Given the description of an element on the screen output the (x, y) to click on. 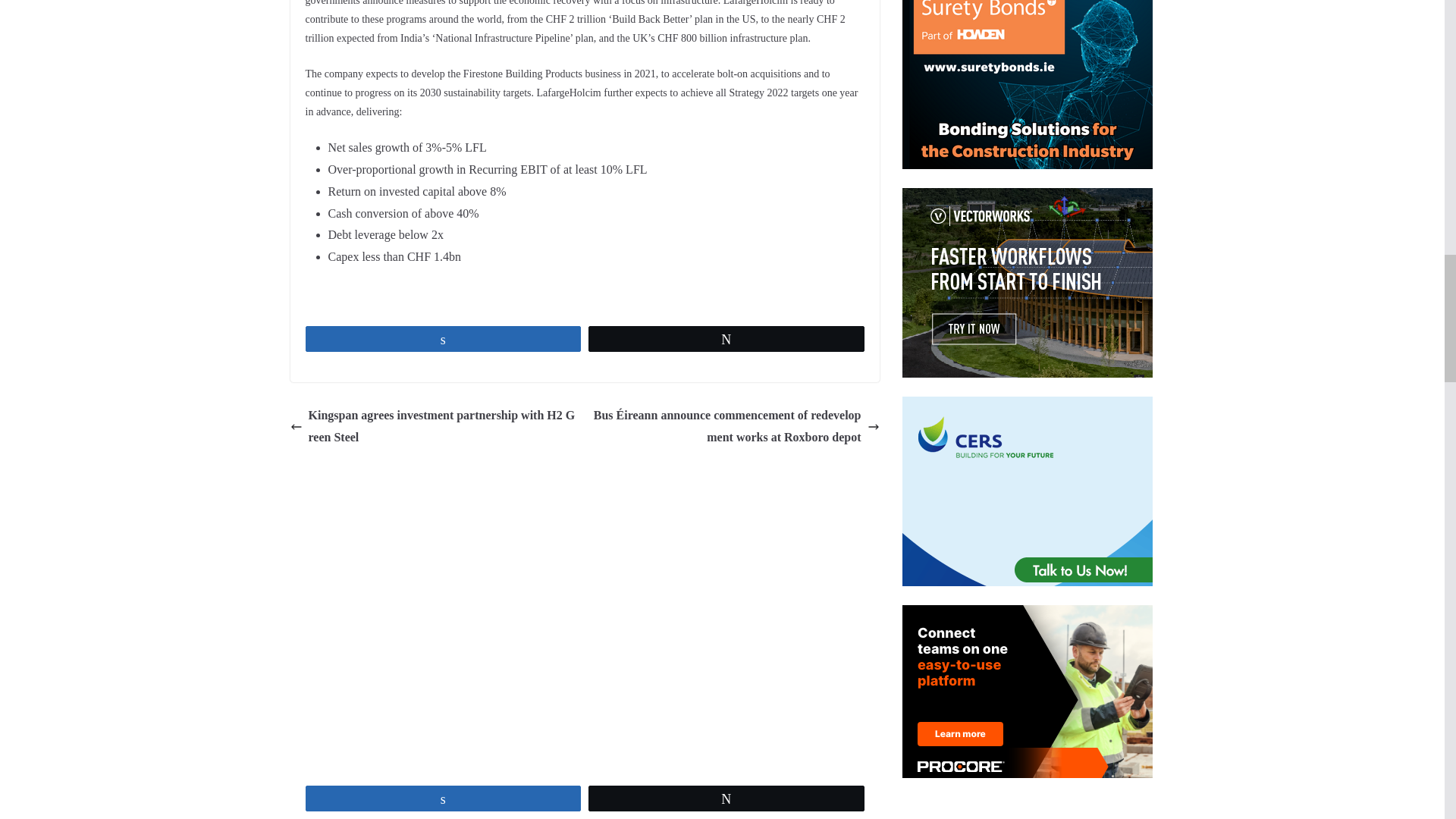
Kingspan agrees investment partnership with H2 Green Steel (432, 426)
